Given the description of an element on the screen output the (x, y) to click on. 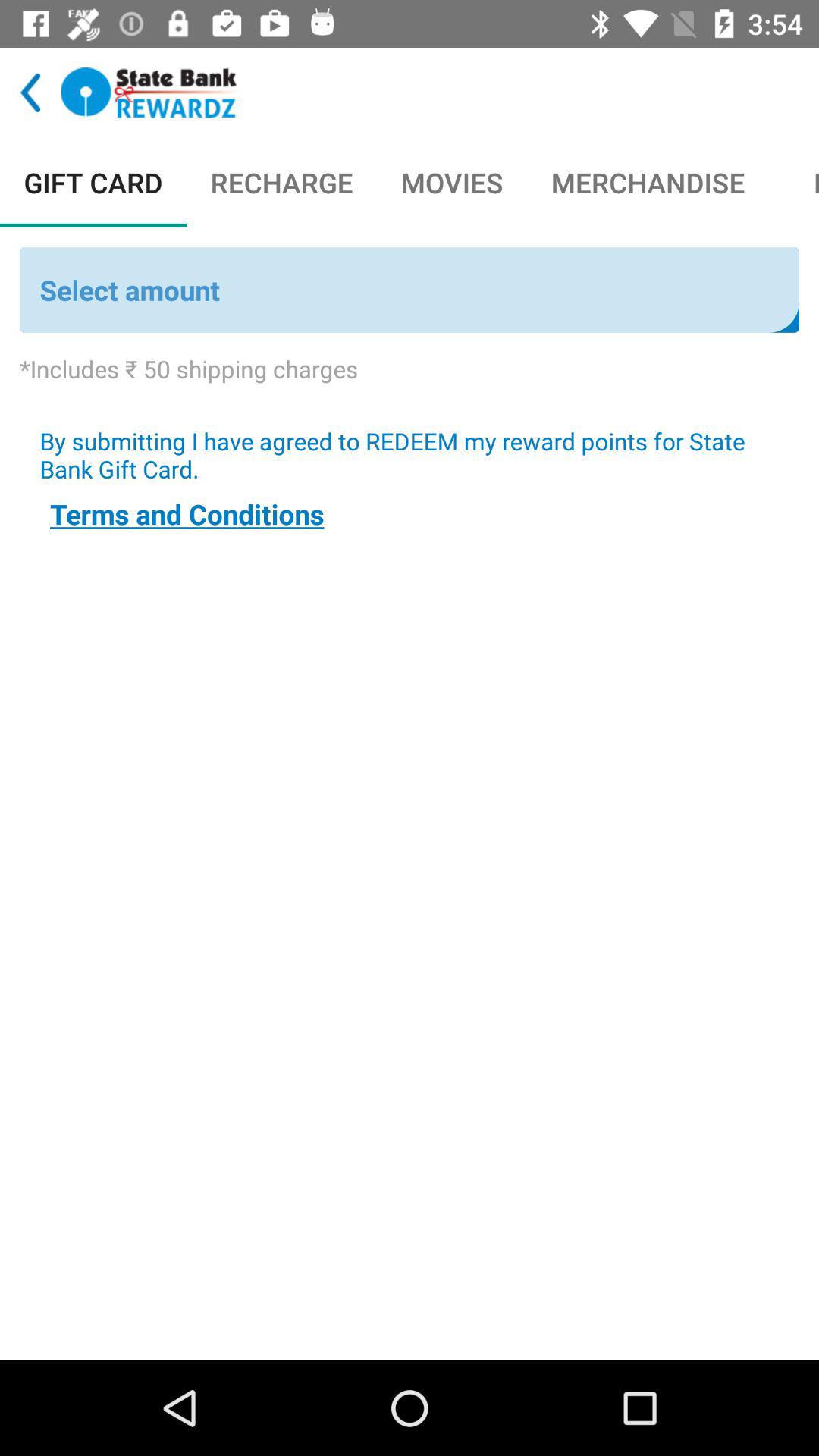
go back (30, 92)
